Given the description of an element on the screen output the (x, y) to click on. 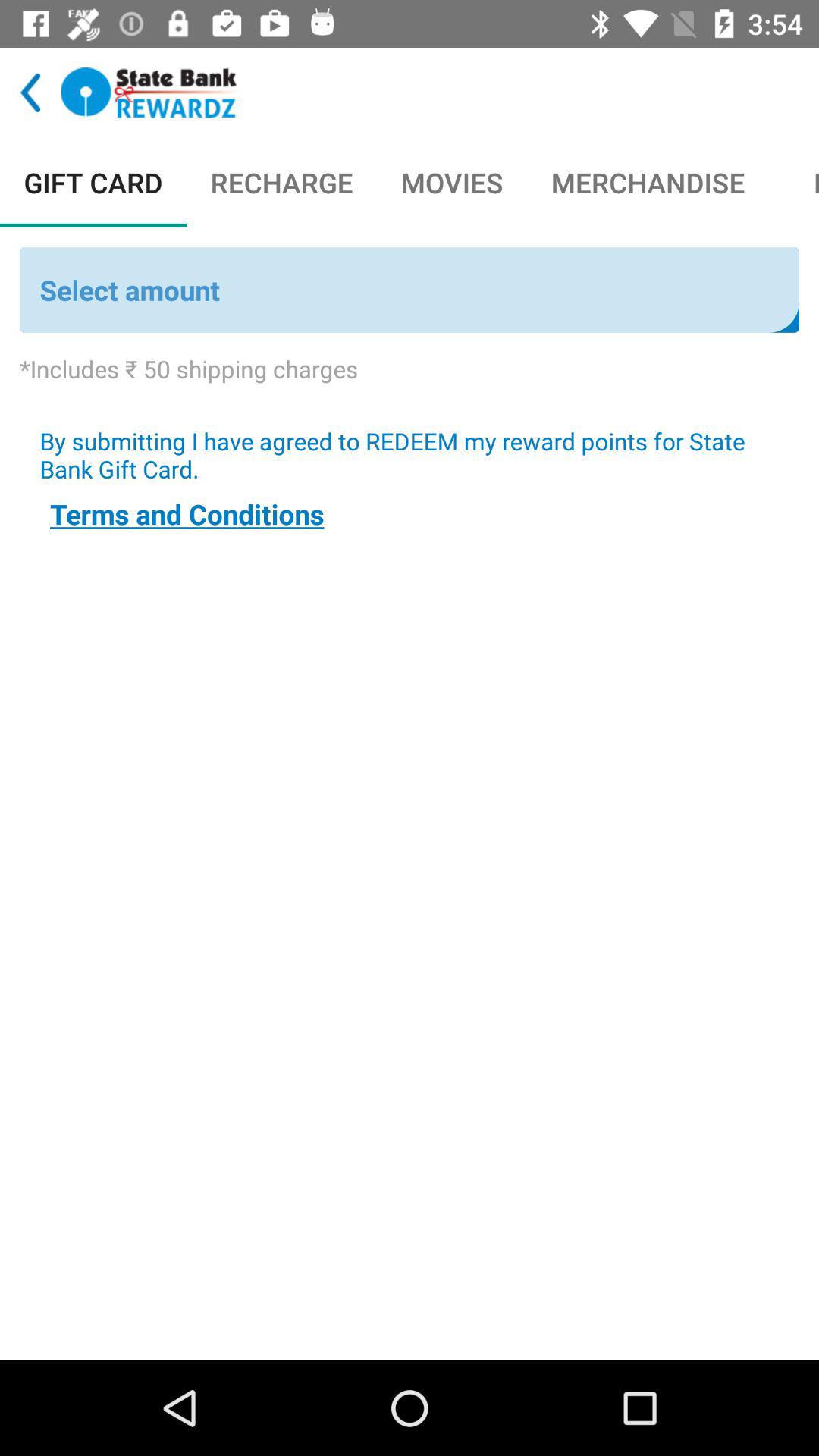
go back (30, 92)
